Given the description of an element on the screen output the (x, y) to click on. 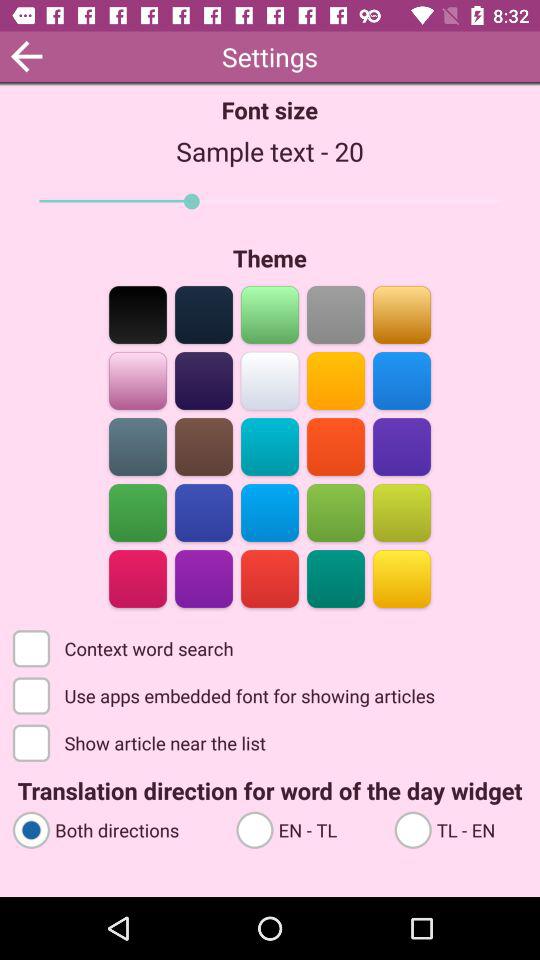
pick green (335, 511)
